Given the description of an element on the screen output the (x, y) to click on. 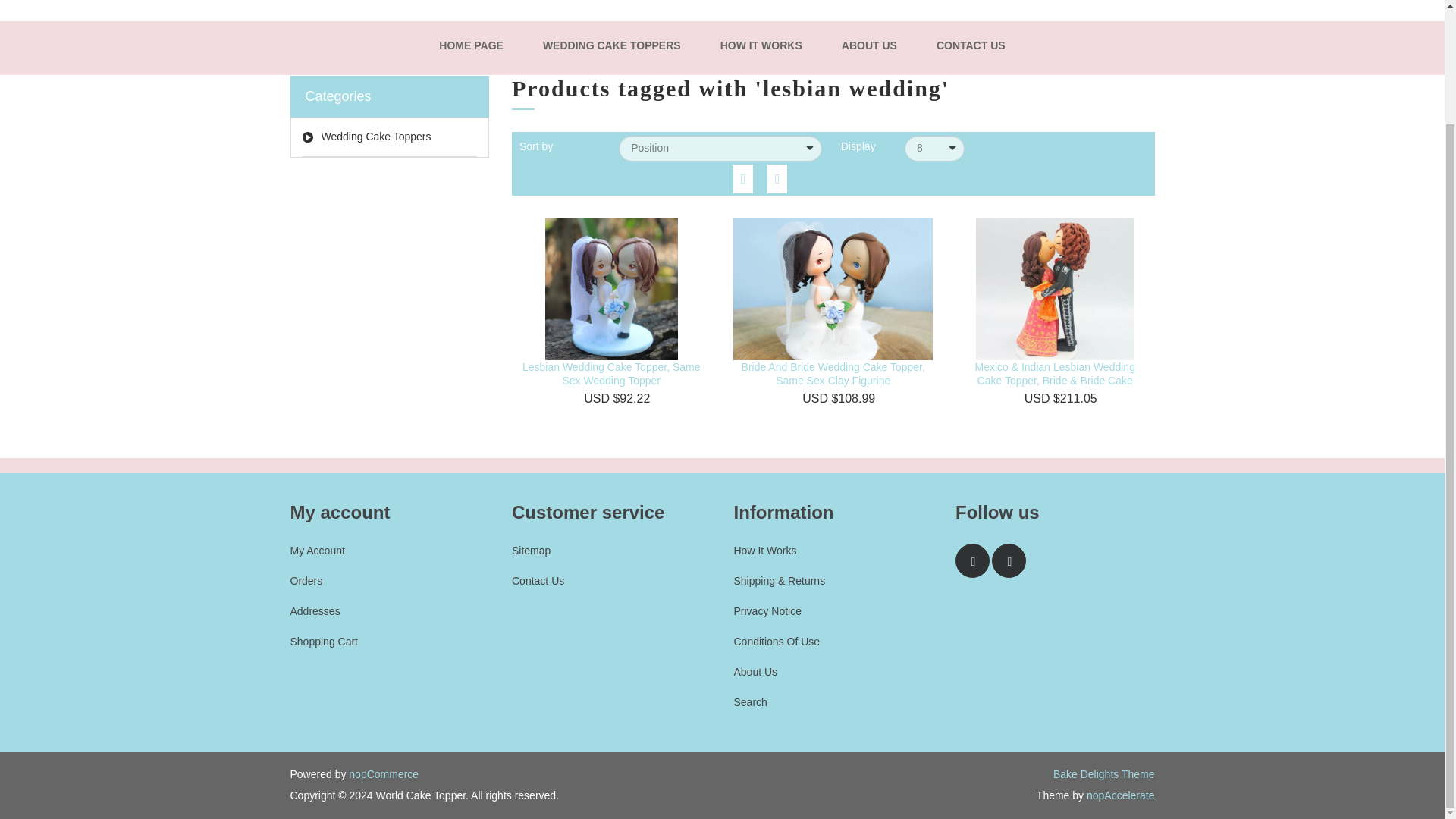
HOME PAGE (470, 45)
Lesbian Wedding Cake Topper, Same Sex Wedding Topper (611, 373)
List (777, 178)
Responsive Bake Delights Theme for nopCommerce (1103, 774)
Wedding Cake Toppers (389, 137)
CONTACT US (971, 45)
HOW IT WORKS (761, 45)
Grid (743, 178)
Bride And Bride Wedding Cake Topper, Same Sex Clay Figurine (832, 373)
WEDDING CAKE TOPPERS (611, 45)
ABOUT US (869, 45)
